Given the description of an element on the screen output the (x, y) to click on. 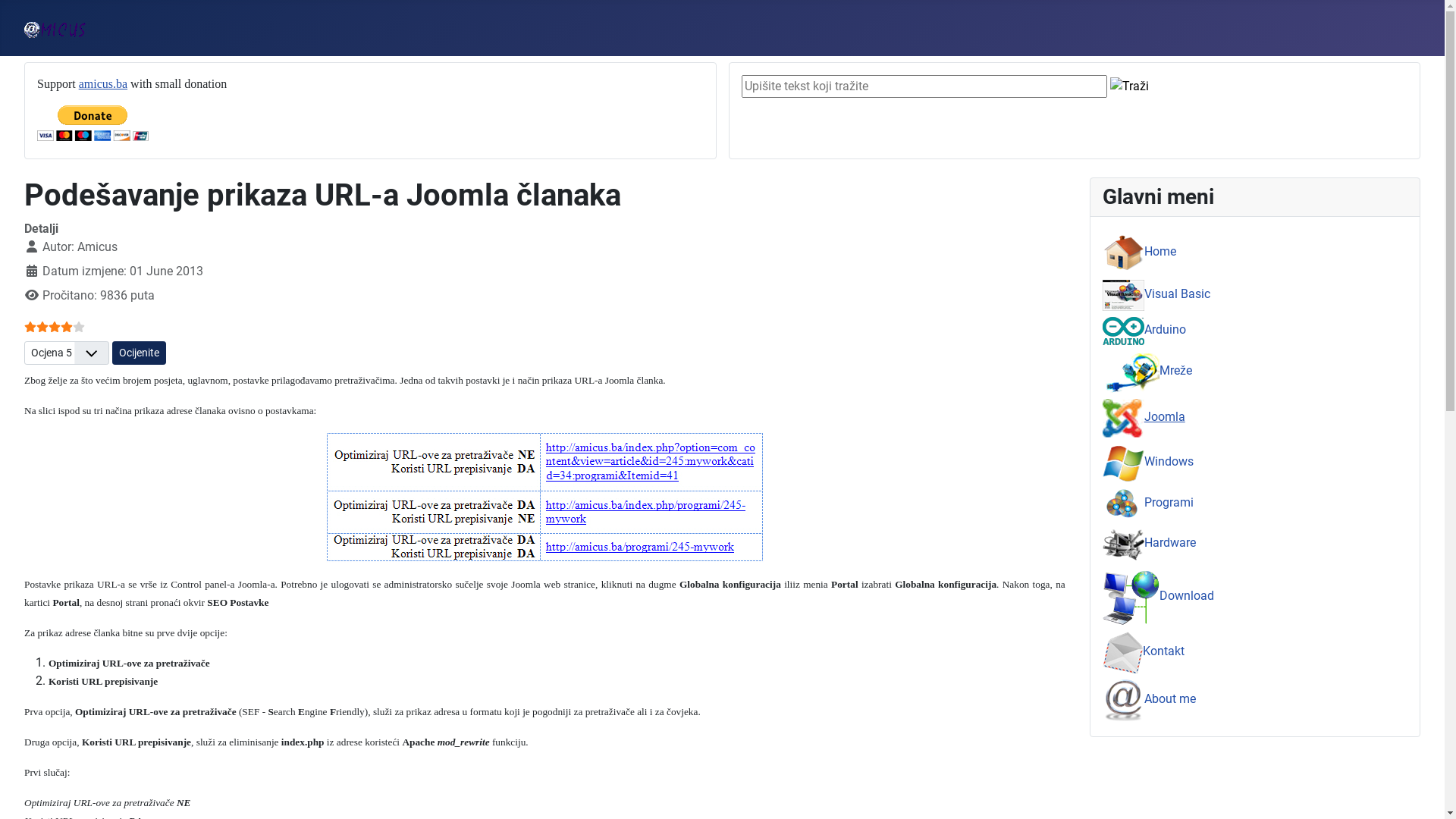
PayPal - The safer, easier way to pay online! Element type: hover (92, 123)
Ocijenite Element type: text (139, 352)
Home Element type: text (1139, 251)
Download Element type: text (1158, 595)
Programi Element type: text (1147, 502)
amicus.ba Element type: text (102, 83)
About me Element type: text (1148, 698)
Visual Basic Element type: text (1156, 293)
Kontakt Element type: text (1143, 650)
Arduino Element type: text (1144, 329)
URL primjeri Element type: hover (544, 496)
Windows Element type: text (1147, 461)
Joomla Element type: text (1143, 416)
Hardware Element type: text (1148, 542)
